Given the description of an element on the screen output the (x, y) to click on. 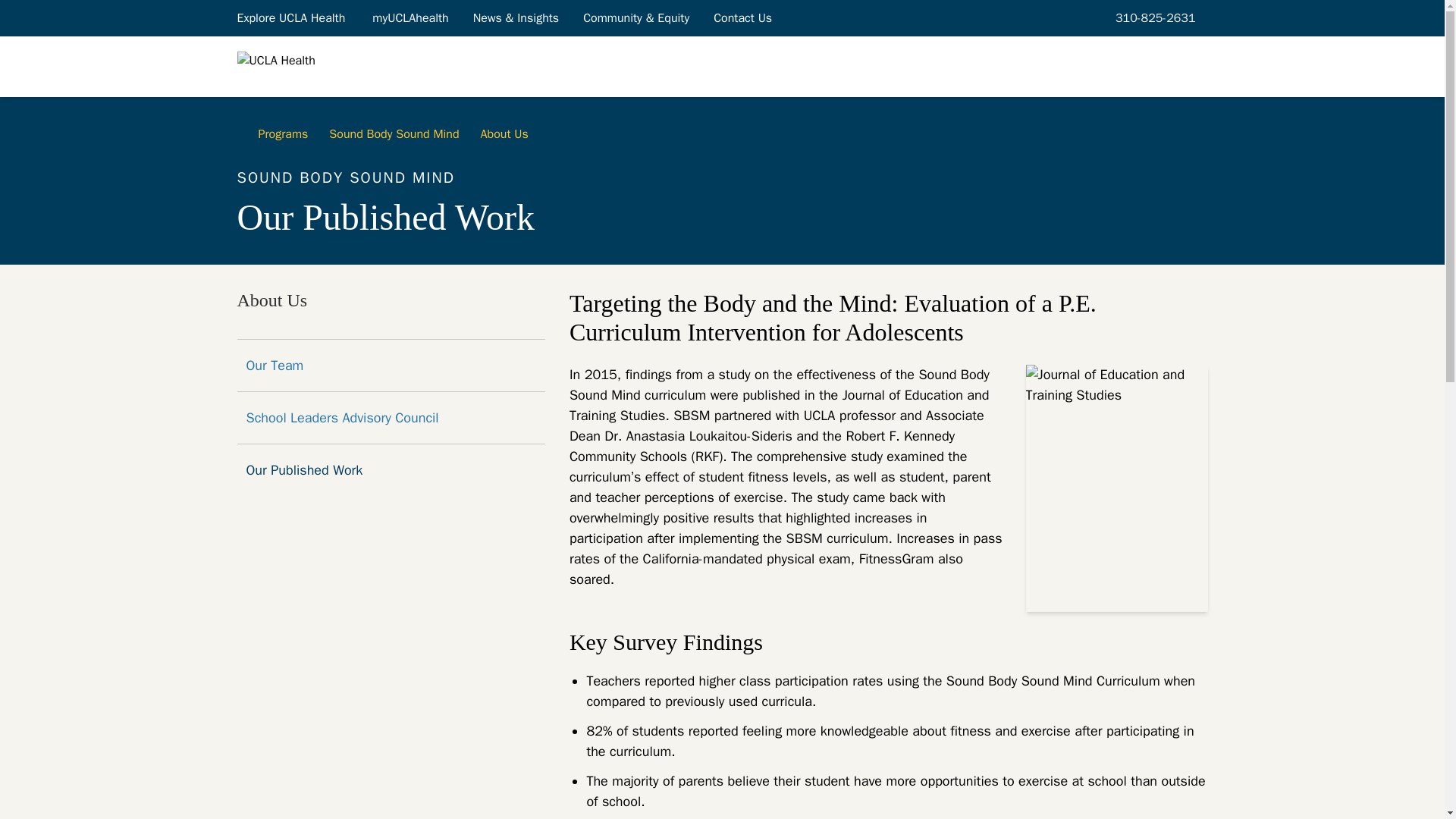
310-825-2631 (1152, 17)
myUCLAhealth (409, 17)
Explore UCLA Health (291, 17)
myUCLAhealth Login. (409, 17)
Contact Us (742, 17)
